Given the description of an element on the screen output the (x, y) to click on. 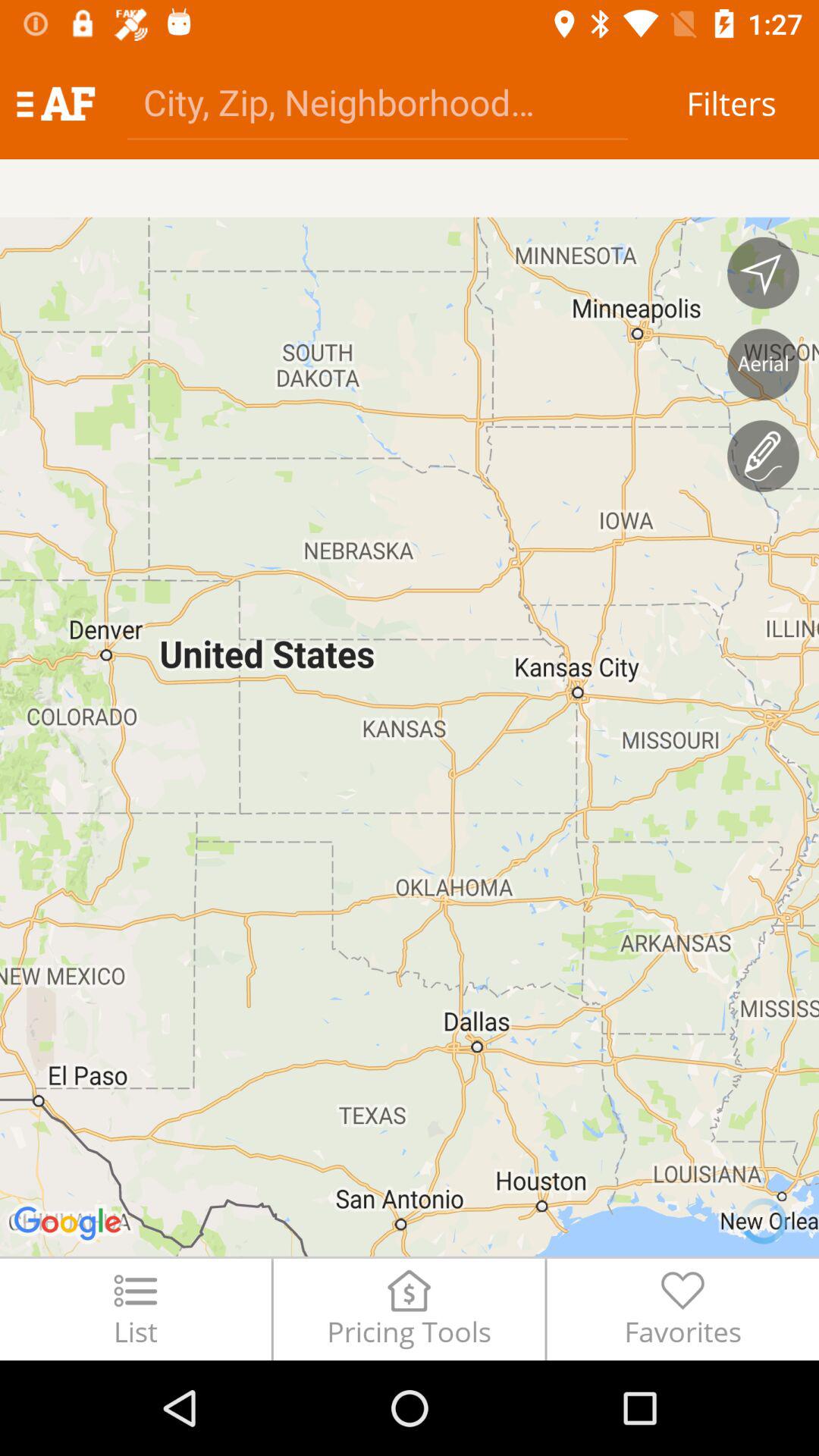
turn on the list (135, 1309)
